Given the description of an element on the screen output the (x, y) to click on. 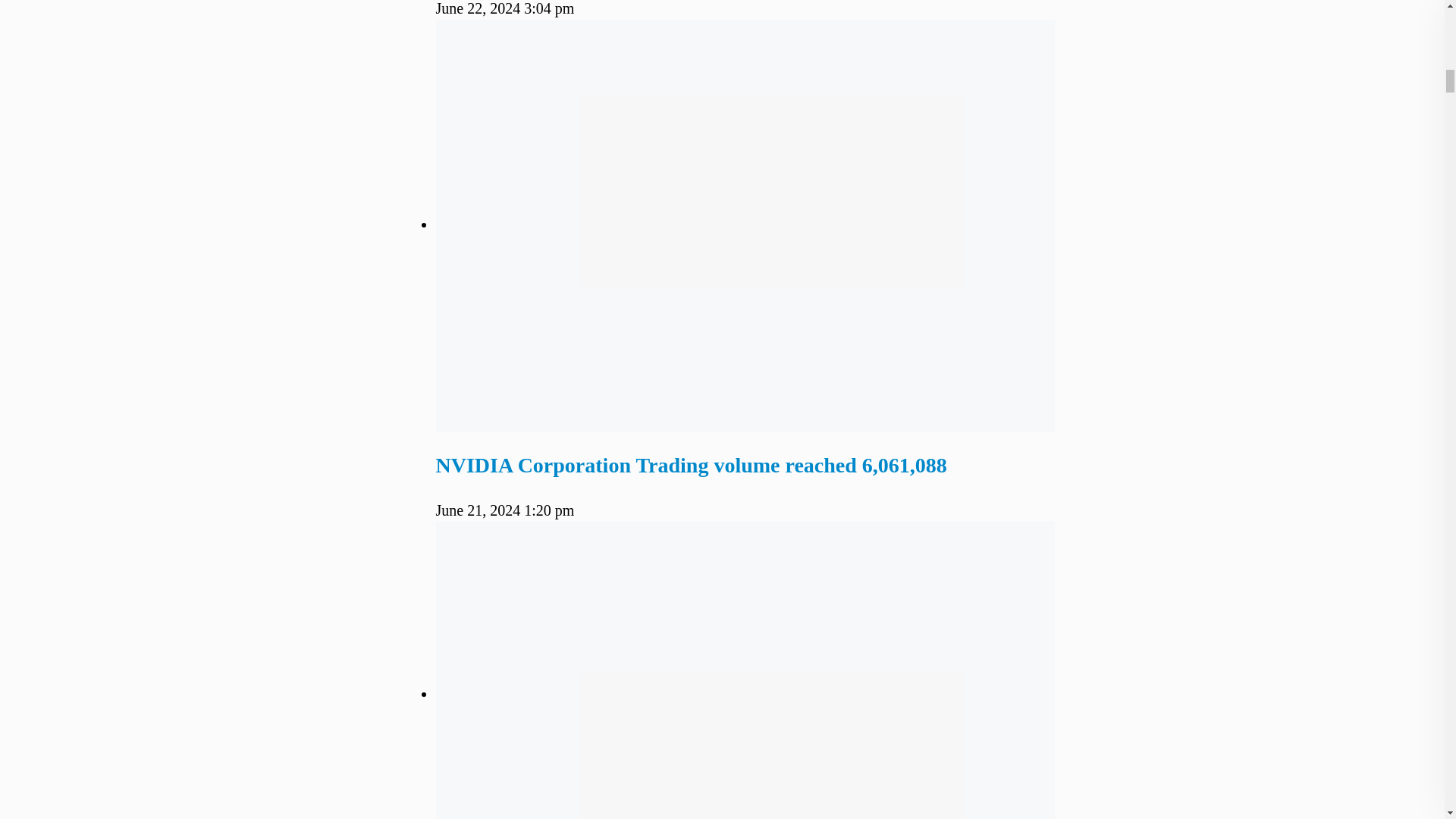
NVIDIA Corporation Trading volume reached 6,061,088 (690, 464)
